Given the description of an element on the screen output the (x, y) to click on. 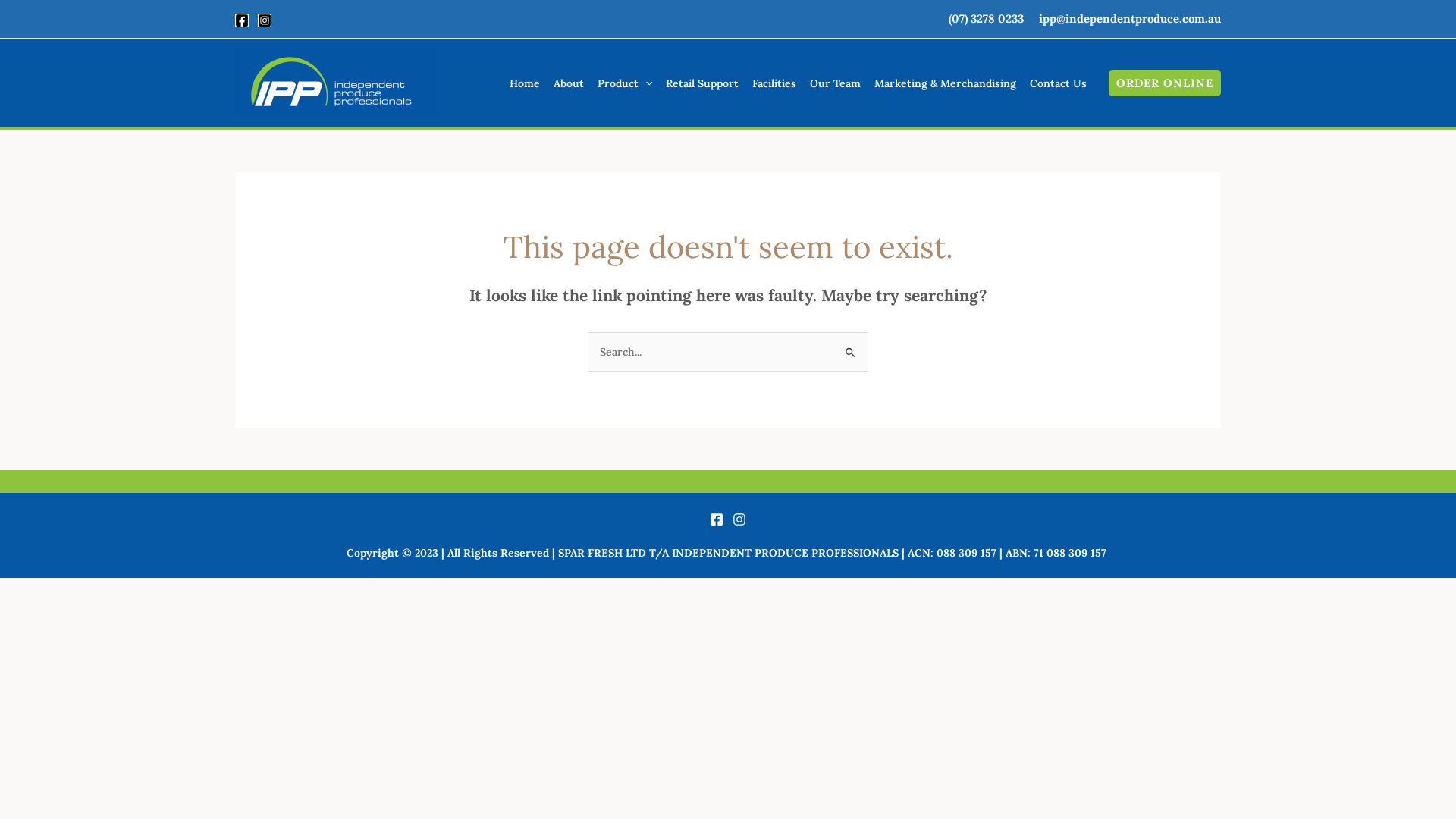
Product Element type: text (624, 83)
Search Element type: text (851, 347)
Our Team Element type: text (835, 83)
Facilities Element type: text (774, 83)
ORDER ONLINE Element type: text (1164, 82)
Home Element type: text (524, 83)
Retail Support Element type: text (701, 83)
Marketing & Merchandising Element type: text (944, 83)
Contact Us Element type: text (1057, 83)
About Element type: text (568, 83)
